Given the description of an element on the screen output the (x, y) to click on. 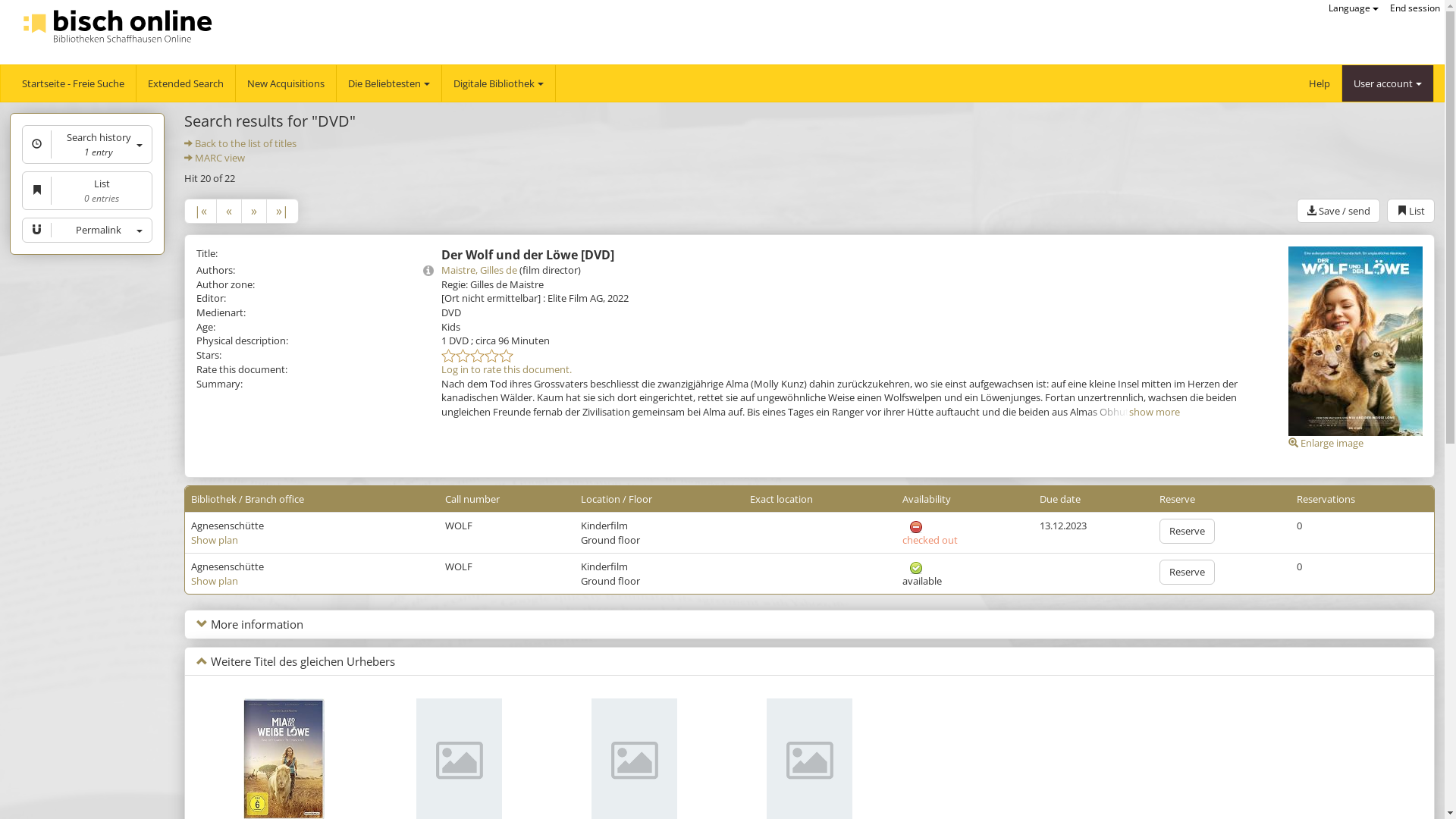
Search history
1 entry Element type: text (86, 144)
Die Beliebtesten Element type: text (388, 83)
Permalink Element type: text (86, 229)
available Element type: hover (915, 567)
Floor Element type: text (640, 498)
Show plan Element type: text (214, 539)
Bibliothek Element type: text (213, 498)
Save / send Element type: text (1338, 210)
Maistre, Gilles de Element type: text (479, 269)
Details Element type: hover (428, 269)
Exact location Element type: text (780, 498)
Digitale Bibliothek Element type: text (498, 83)
Enlarge image Element type: text (1325, 442)
List
0 entries Element type: text (86, 190)
List Element type: text (1410, 210)
Reserve Element type: text (1186, 571)
Back to the list of titles Element type: text (245, 143)
Due date Element type: text (1059, 498)
Reservations Element type: text (1325, 498)
End session Element type: text (1414, 8)
Language Element type: text (1353, 8)
Call number Element type: text (472, 498)
MARC view Element type: text (219, 157)
Location Element type: text (600, 498)
Log in to rate this document. Element type: text (506, 369)
New Acquisitions Element type: text (285, 83)
Show plan Element type: text (214, 580)
show more Element type: text (1154, 411)
Branch office Element type: text (274, 498)
Extended Search Element type: text (185, 83)
User account Element type: text (1387, 83)
Help Element type: text (1319, 83)
Reserve Element type: text (1186, 530)
Startseite - Freie Suche Element type: text (72, 83)
checked out Element type: hover (915, 526)
